Given the description of an element on the screen output the (x, y) to click on. 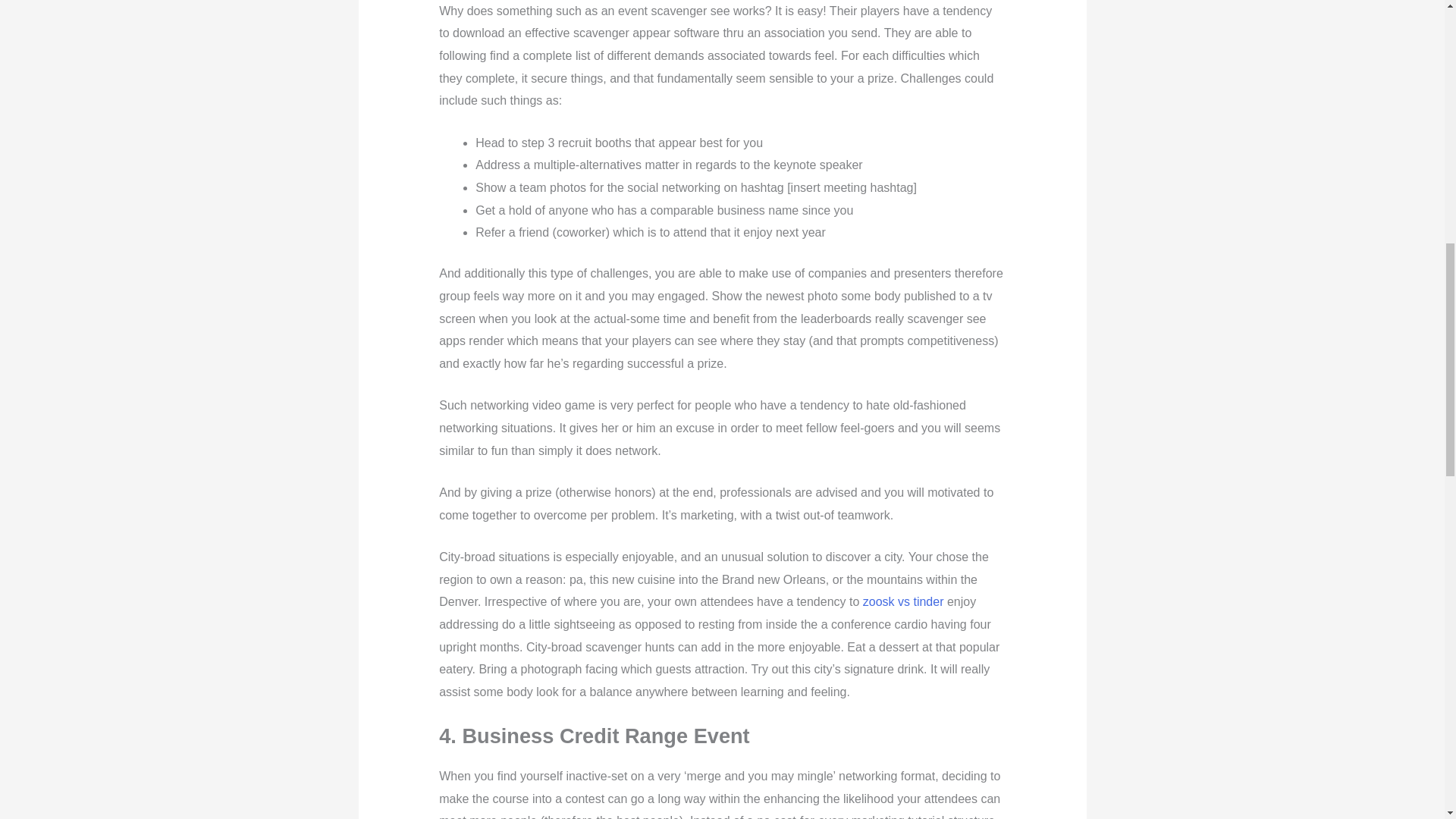
zoosk vs tinder (903, 601)
